Given the description of an element on the screen output the (x, y) to click on. 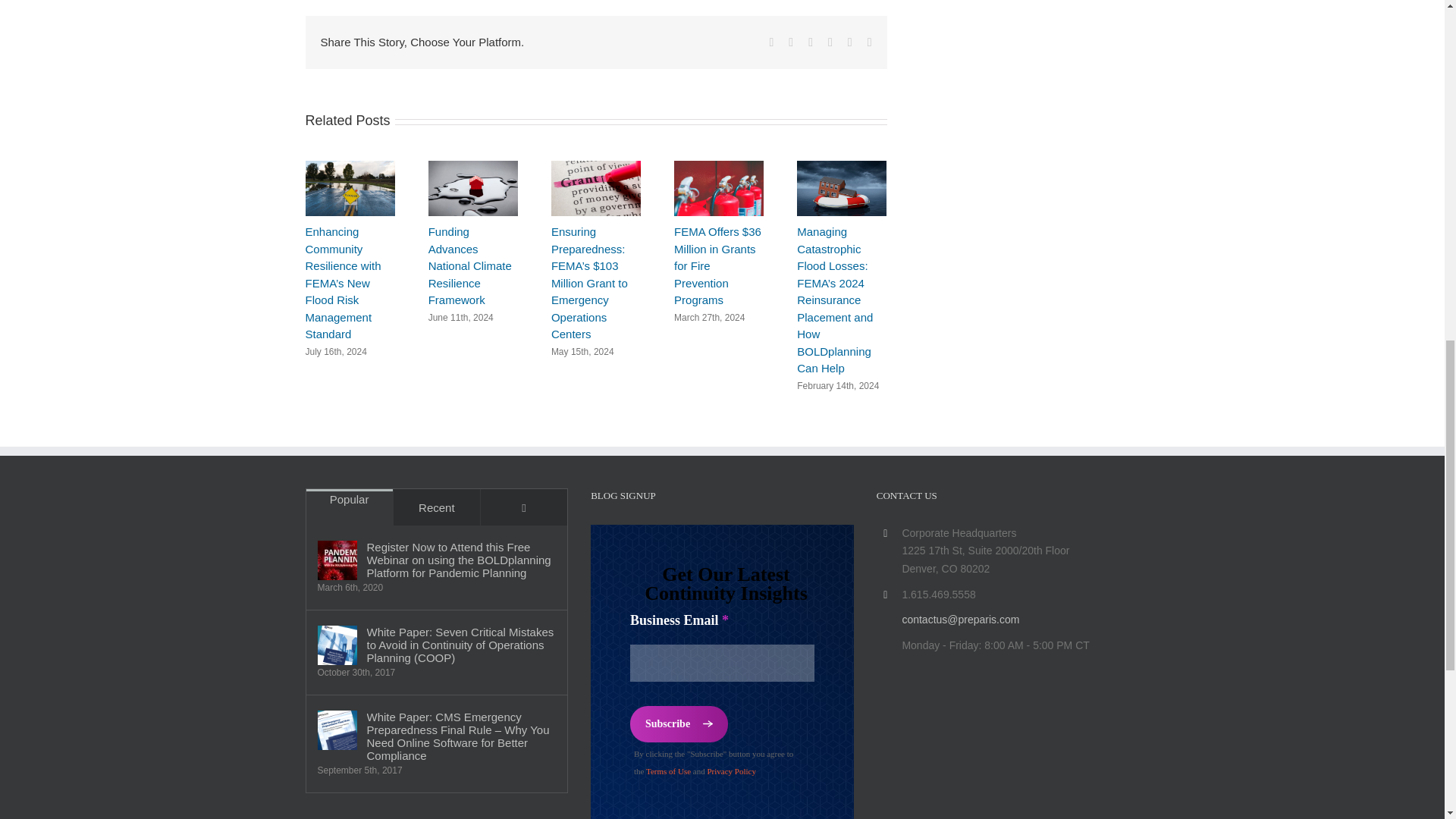
Funding Advances National Climate Resilience Framework (470, 265)
